Given the description of an element on the screen output the (x, y) to click on. 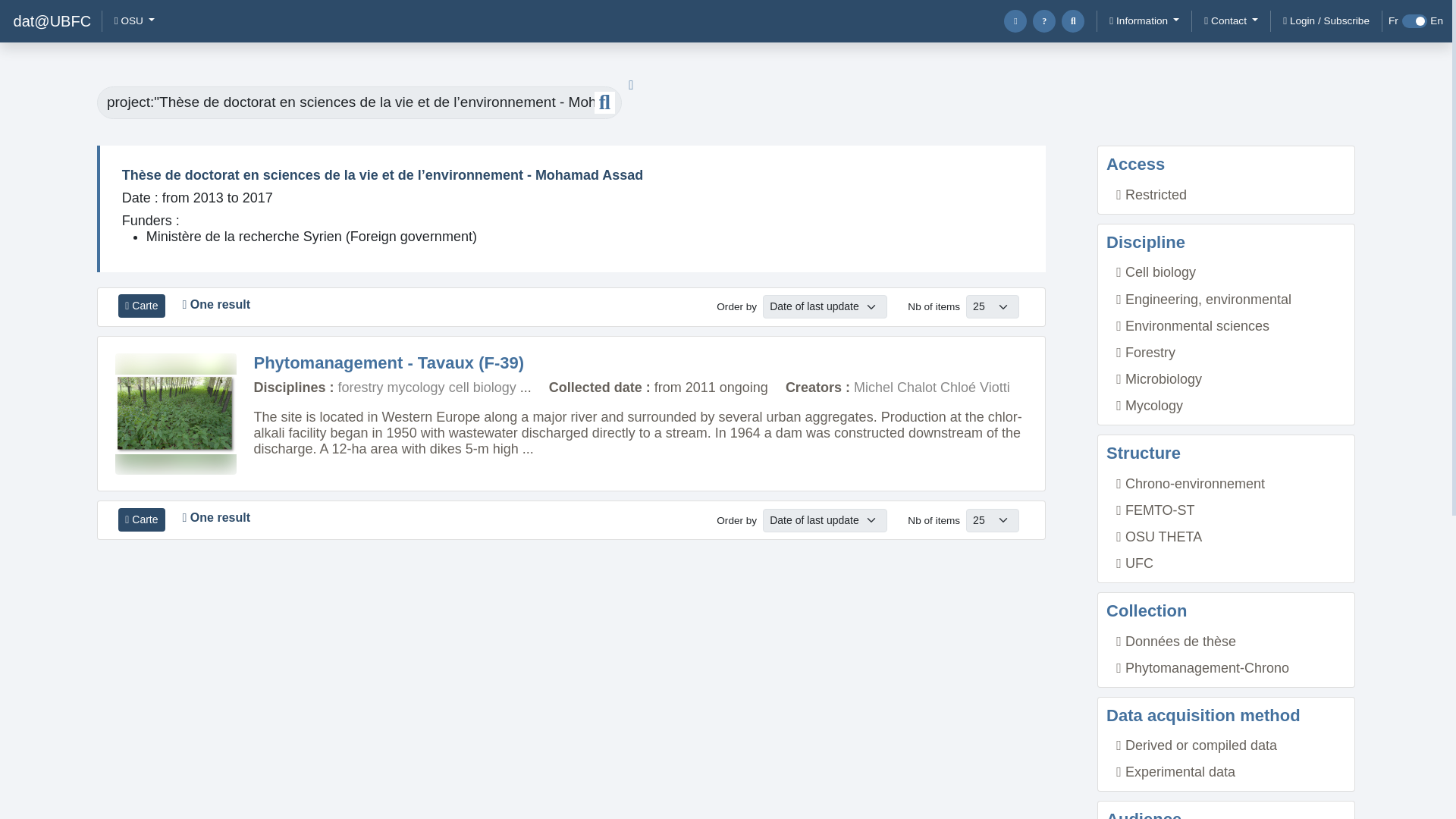
En (1435, 20)
World map with spatial coverages (140, 305)
Phytomanagement-Chrono (1202, 667)
Carte (140, 305)
 Information (1144, 21)
 Contact (1230, 21)
 OSU (133, 21)
World map with spatial coverages (140, 519)
